Given the description of an element on the screen output the (x, y) to click on. 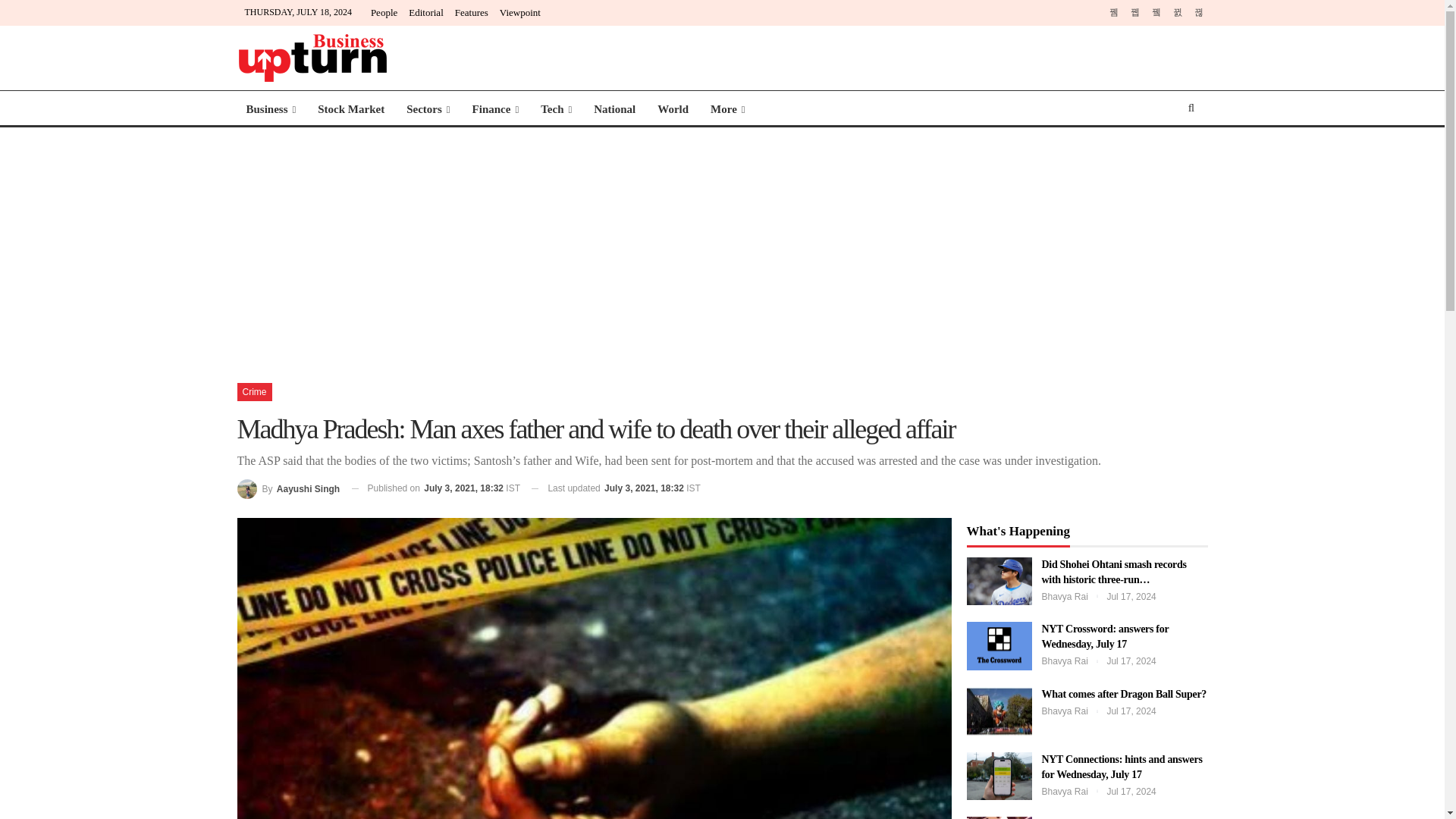
Finance (495, 108)
Browse Author Articles (287, 488)
Stock Market (350, 108)
Editorial (426, 12)
Viewpoint (519, 12)
People (384, 12)
Features (470, 12)
Sectors (427, 108)
Business (269, 108)
